Given the description of an element on the screen output the (x, y) to click on. 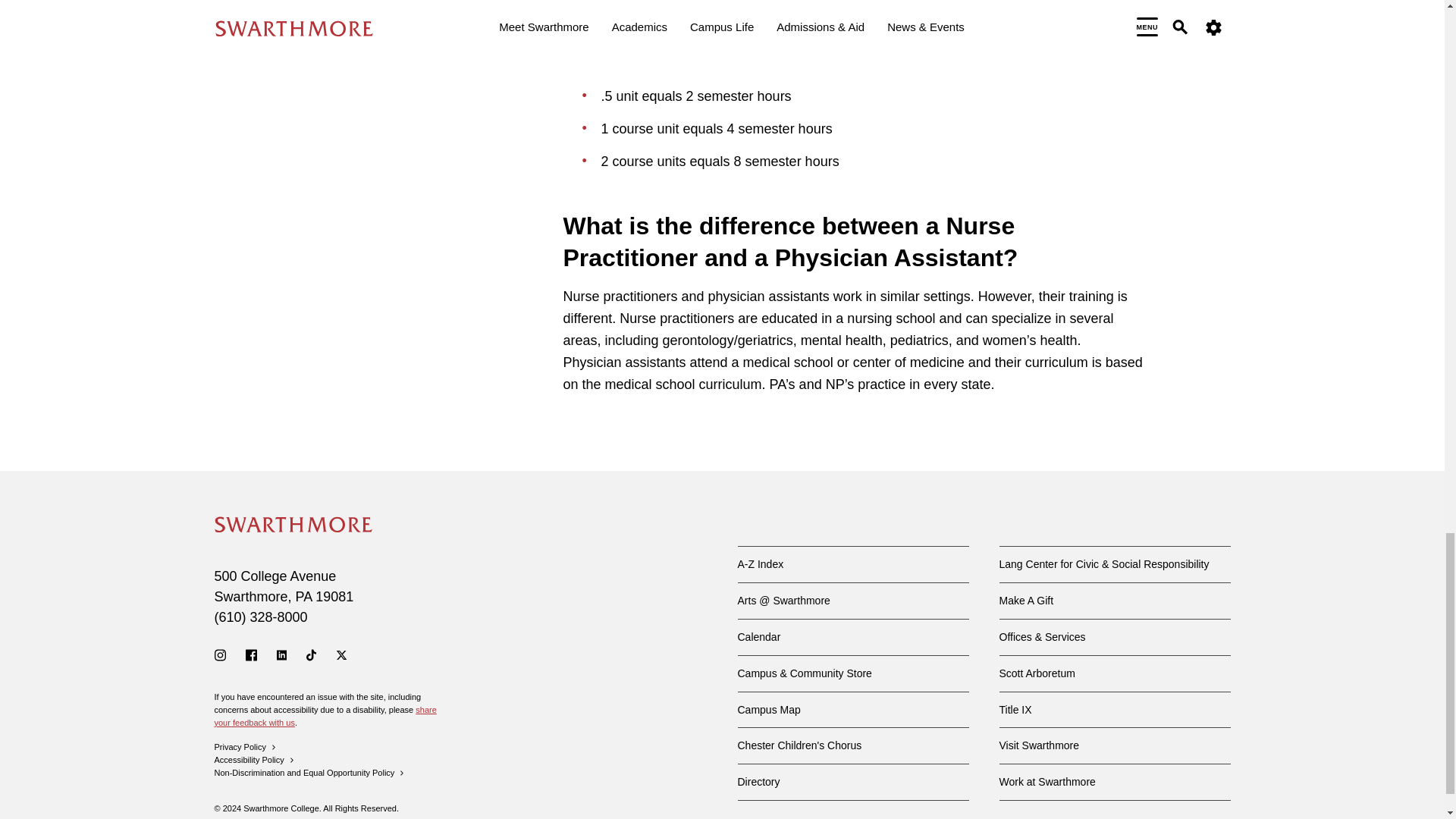
Instagram (219, 654)
Pennsylvania (304, 596)
Swarthmore College - Home (292, 524)
Facebook (251, 654)
